Given the description of an element on the screen output the (x, y) to click on. 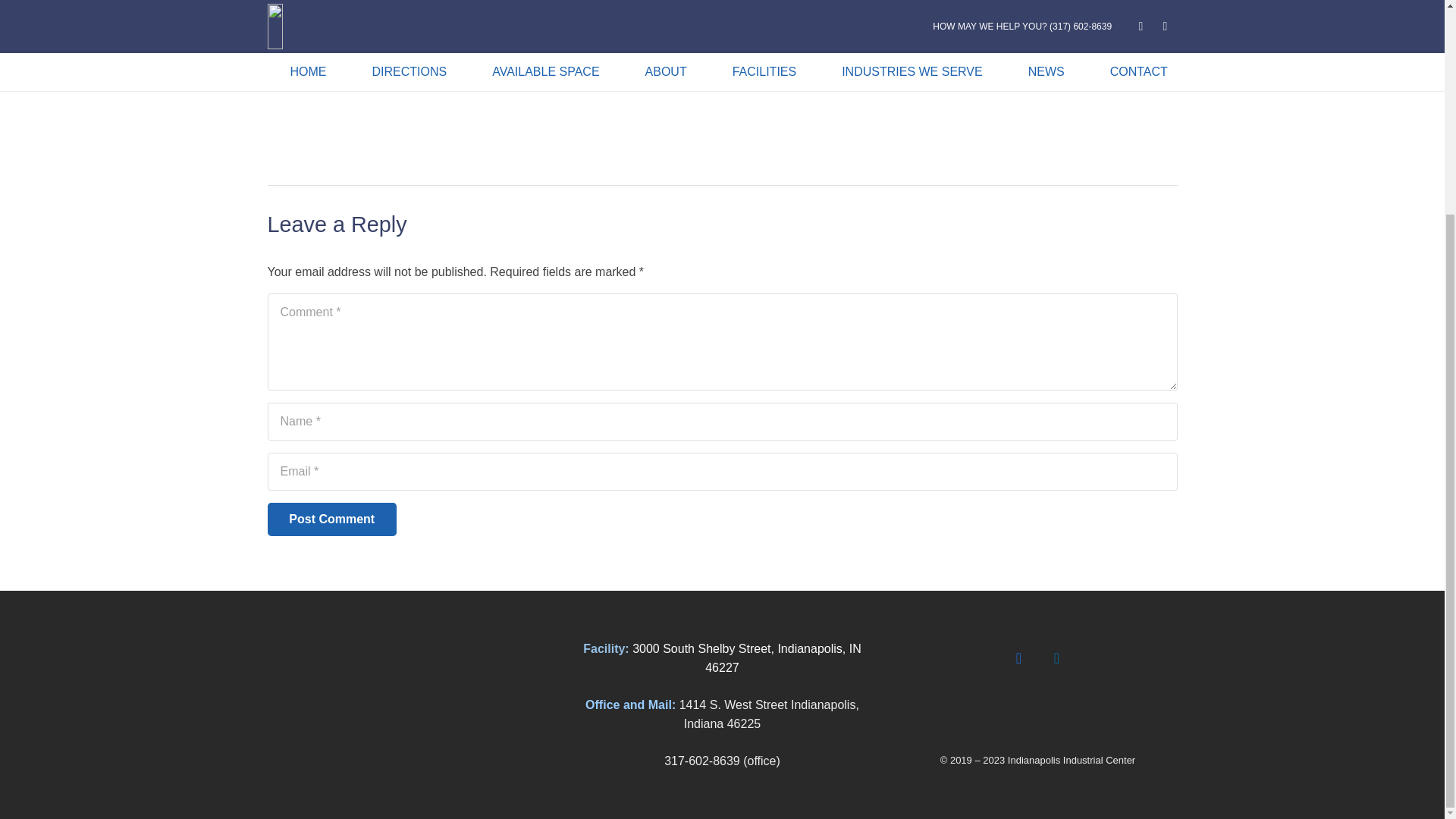
Facebook (1017, 658)
Post Comment (331, 519)
LinkedIn (1055, 658)
